Given the description of an element on the screen output the (x, y) to click on. 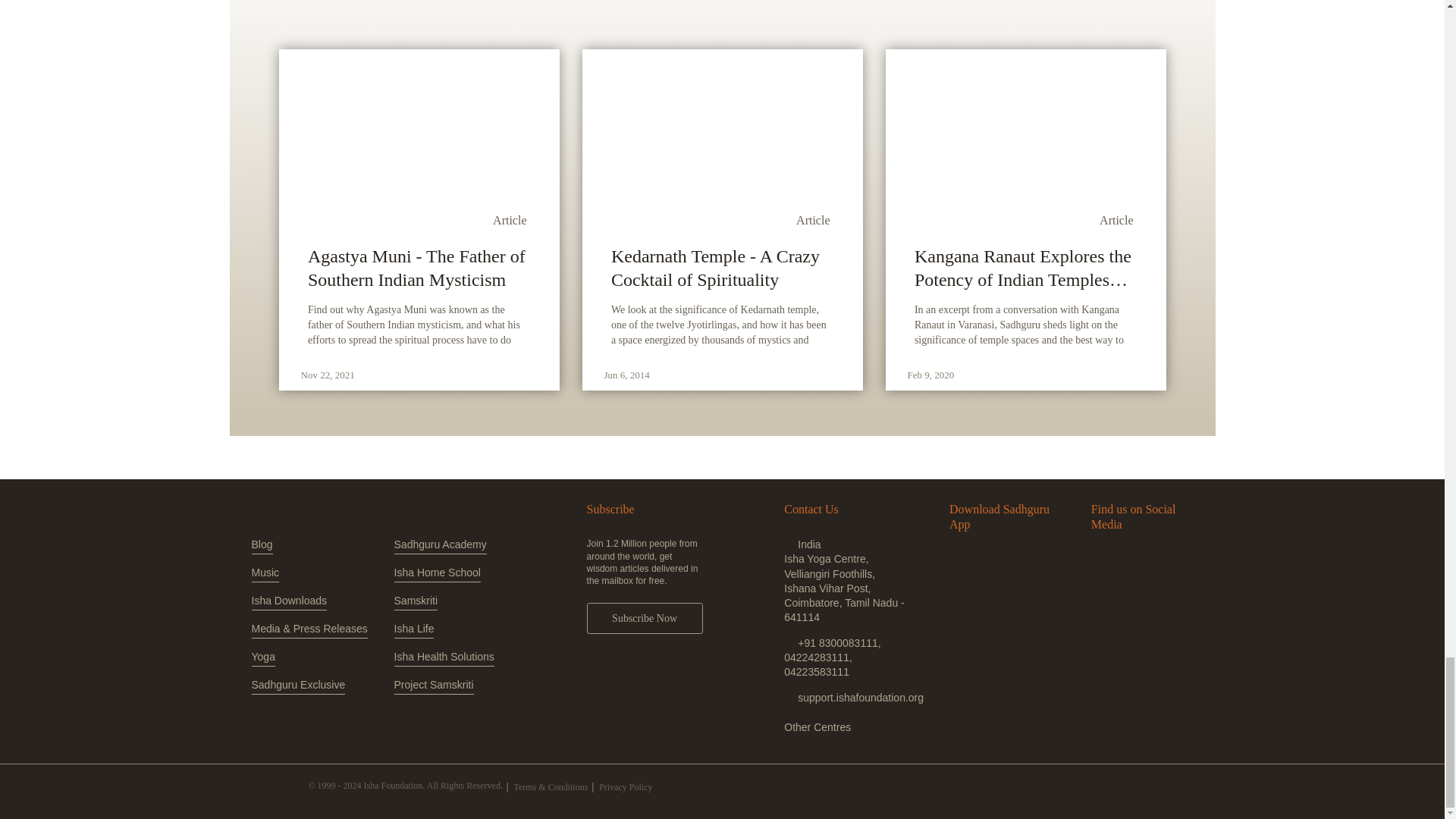
Agastya Muni - The Father of Southern Indian Mysticism (418, 267)
Kedarnath Temple - A Crazy Cocktail of Spirituality (721, 267)
